Given the description of an element on the screen output the (x, y) to click on. 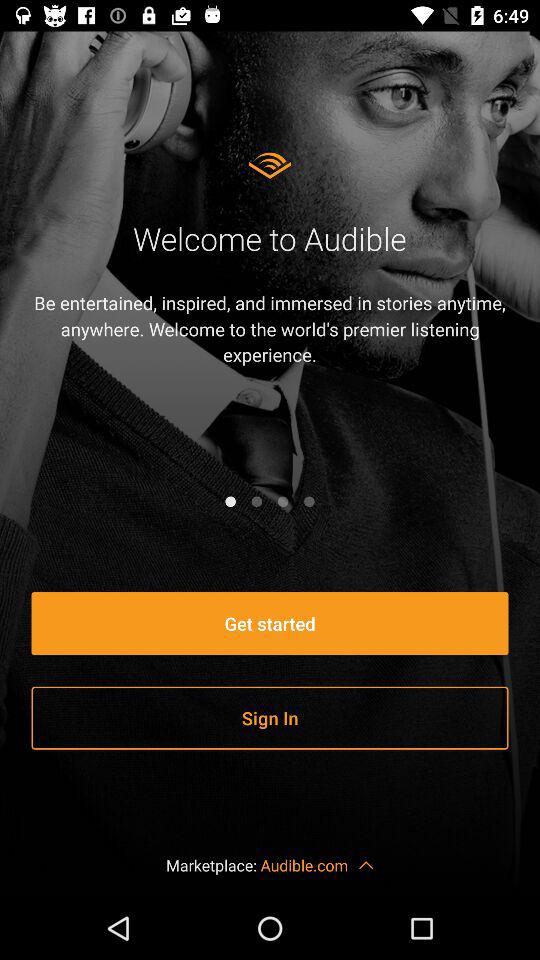
swipe left (256, 501)
